Given the description of an element on the screen output the (x, y) to click on. 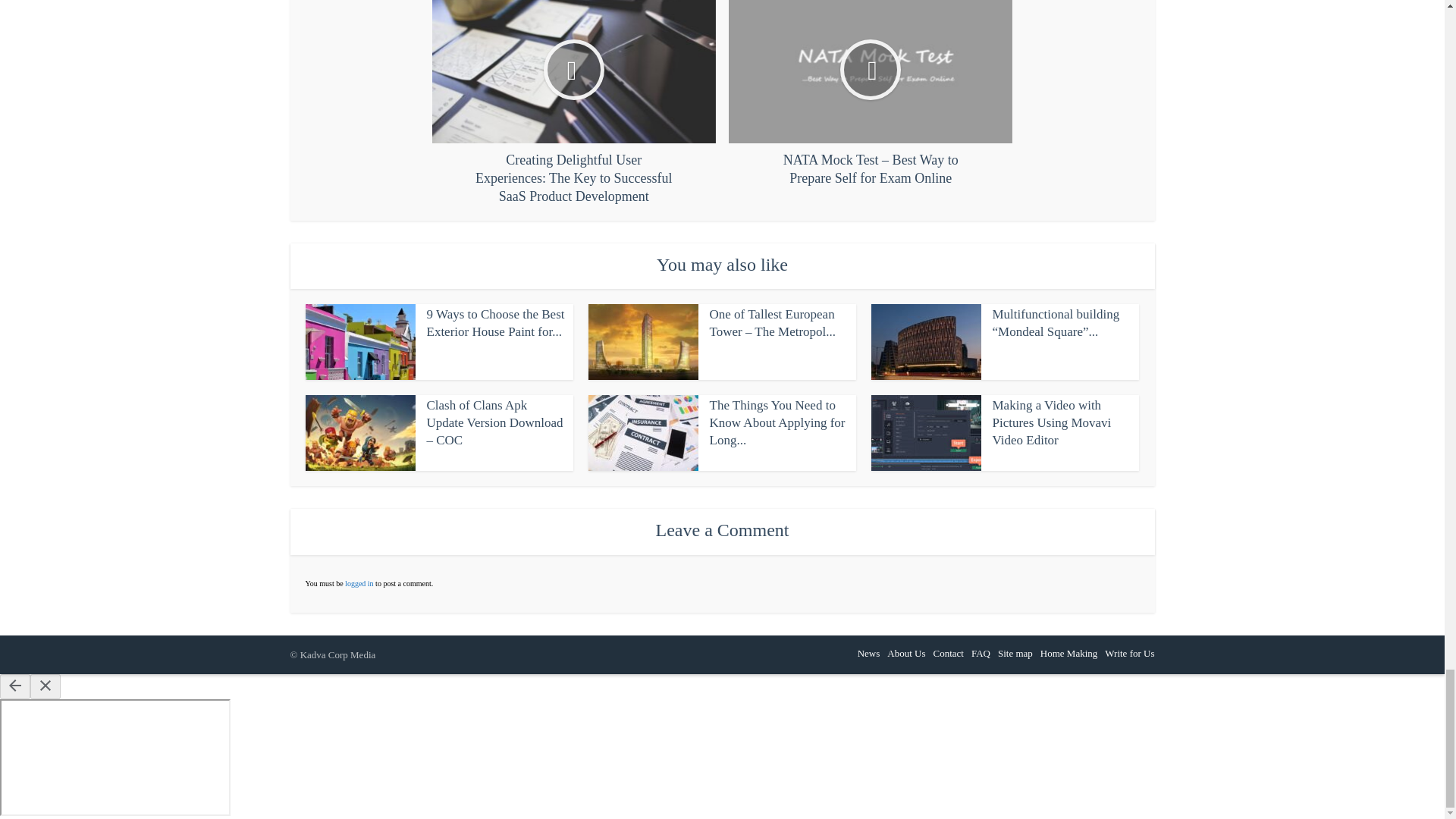
9 Ways to Choose the Best Exterior House Paint for Your Home (495, 323)
9 Ways to Choose the Best Exterior House Paint for... (495, 323)
